Given the description of an element on the screen output the (x, y) to click on. 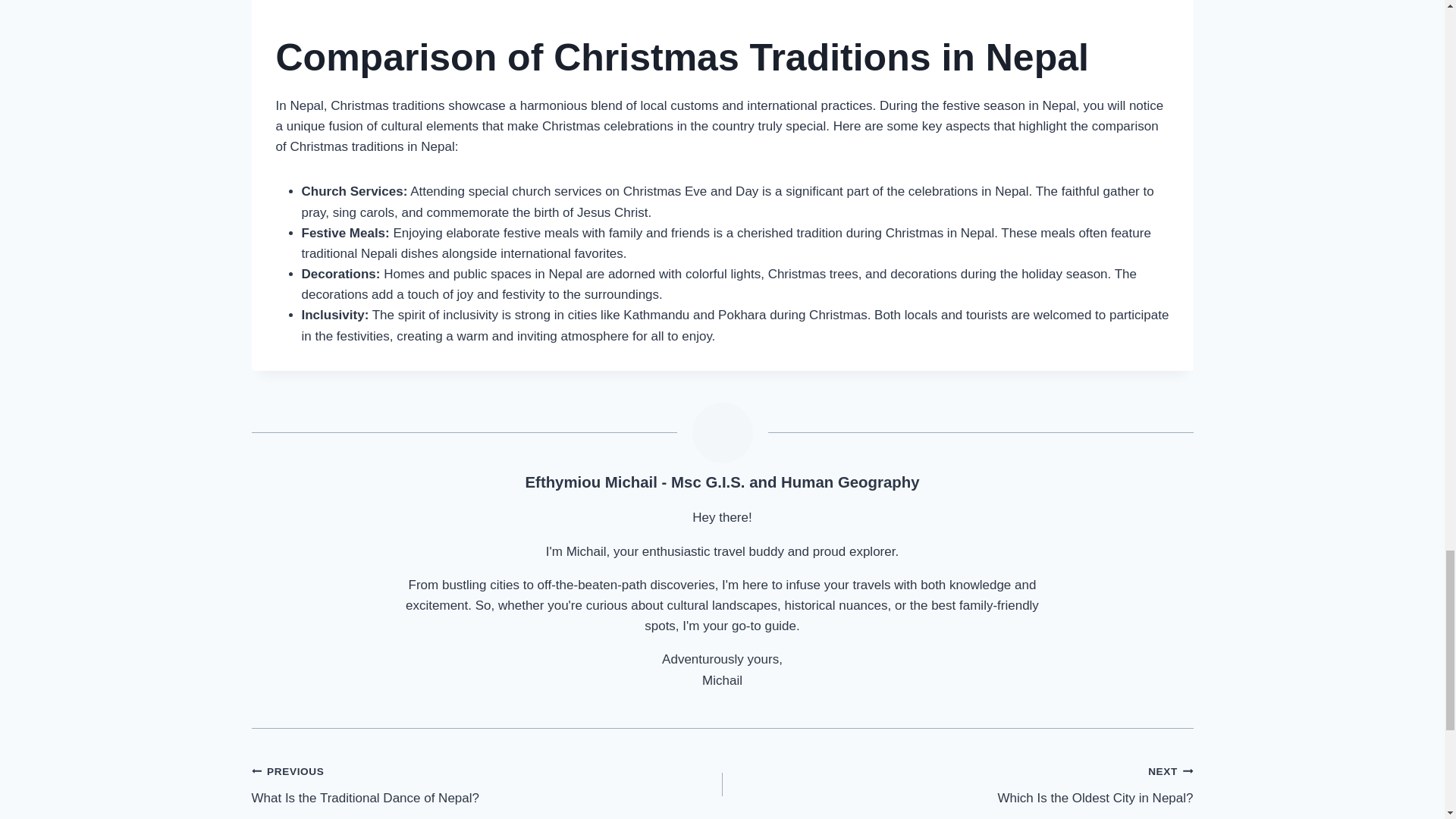
Efthymiou Michail - Msc G.I.S. and Human Geography (721, 482)
Posts by Efthymiou Michail - Msc G.I.S. and Human Geography (486, 784)
